Given the description of an element on the screen output the (x, y) to click on. 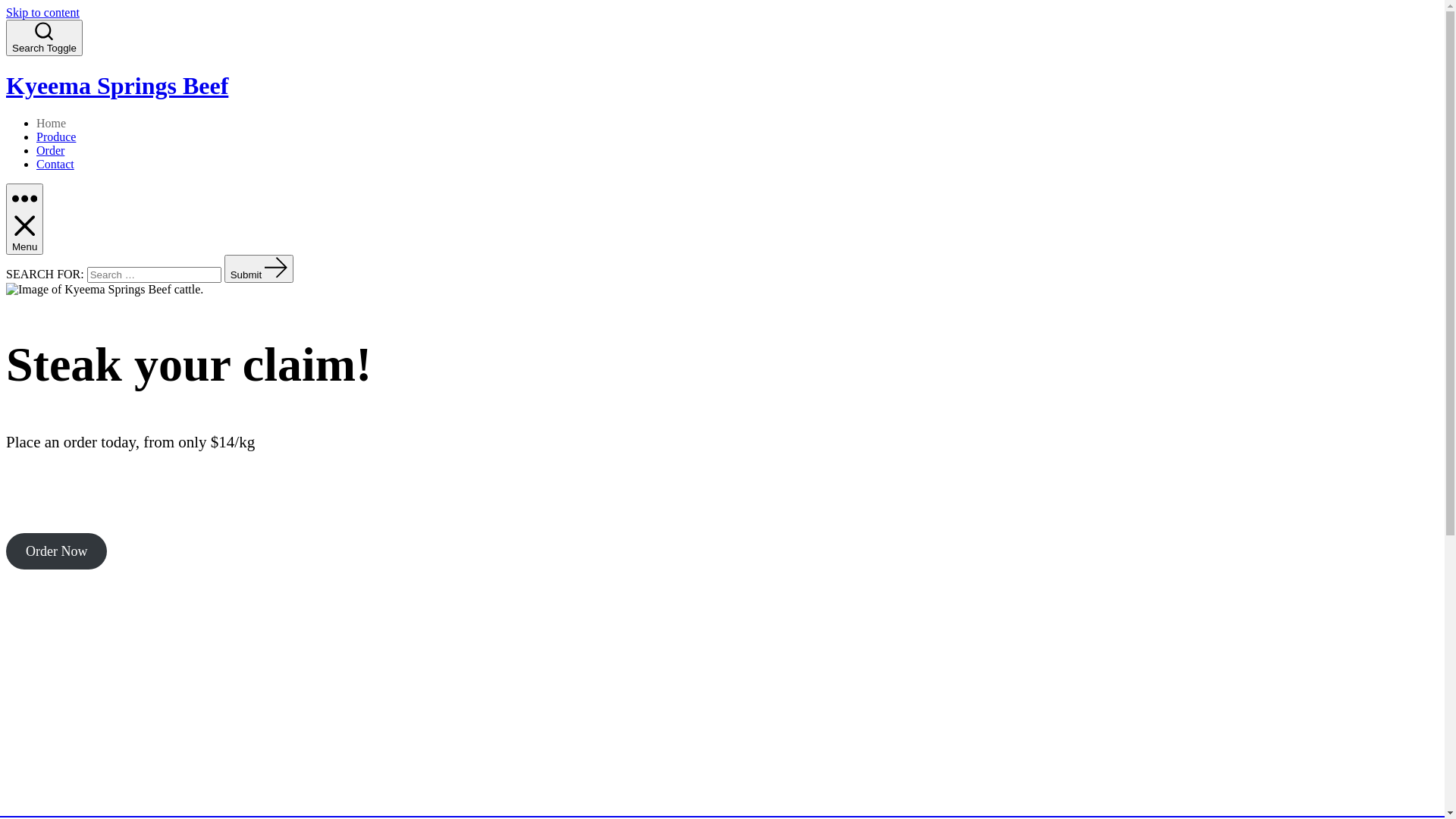
Order Element type: text (50, 150)
Order Now Element type: text (56, 551)
Contact Element type: text (55, 163)
Produce Element type: text (55, 136)
Kyeema Springs Beef Element type: text (722, 86)
Home Element type: text (50, 122)
Submit Element type: text (258, 268)
Menu Element type: text (24, 218)
Search Toggle Element type: text (44, 37)
Skip to content Element type: text (42, 12)
